Given the description of an element on the screen output the (x, y) to click on. 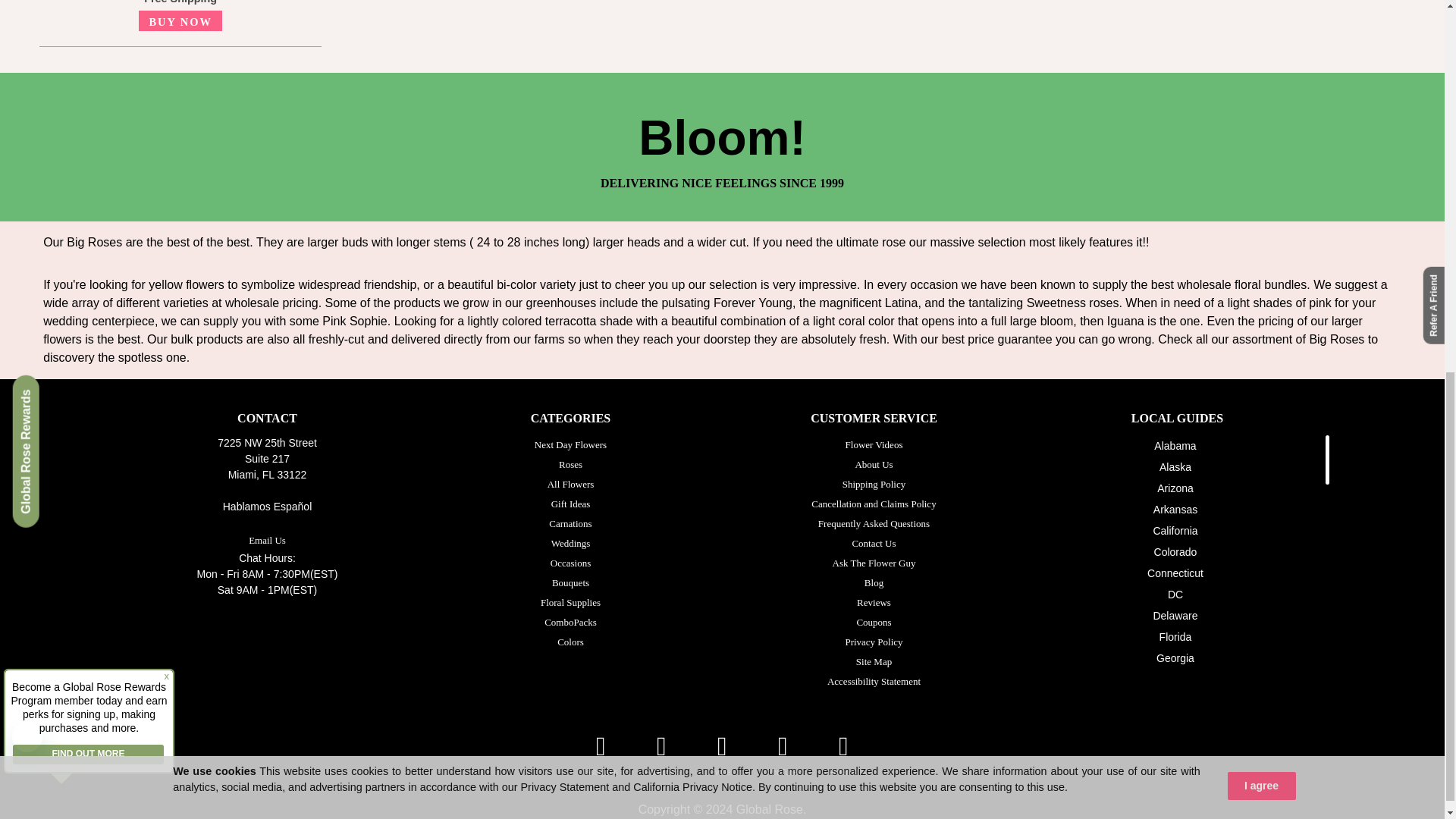
Alaska (1174, 467)
Arizona (1174, 488)
Connecticut (1175, 573)
Colorado (1175, 551)
Alabama (1174, 445)
DC (1174, 594)
California (1174, 530)
Arkansas (1174, 509)
I agree (1261, 95)
